Given the description of an element on the screen output the (x, y) to click on. 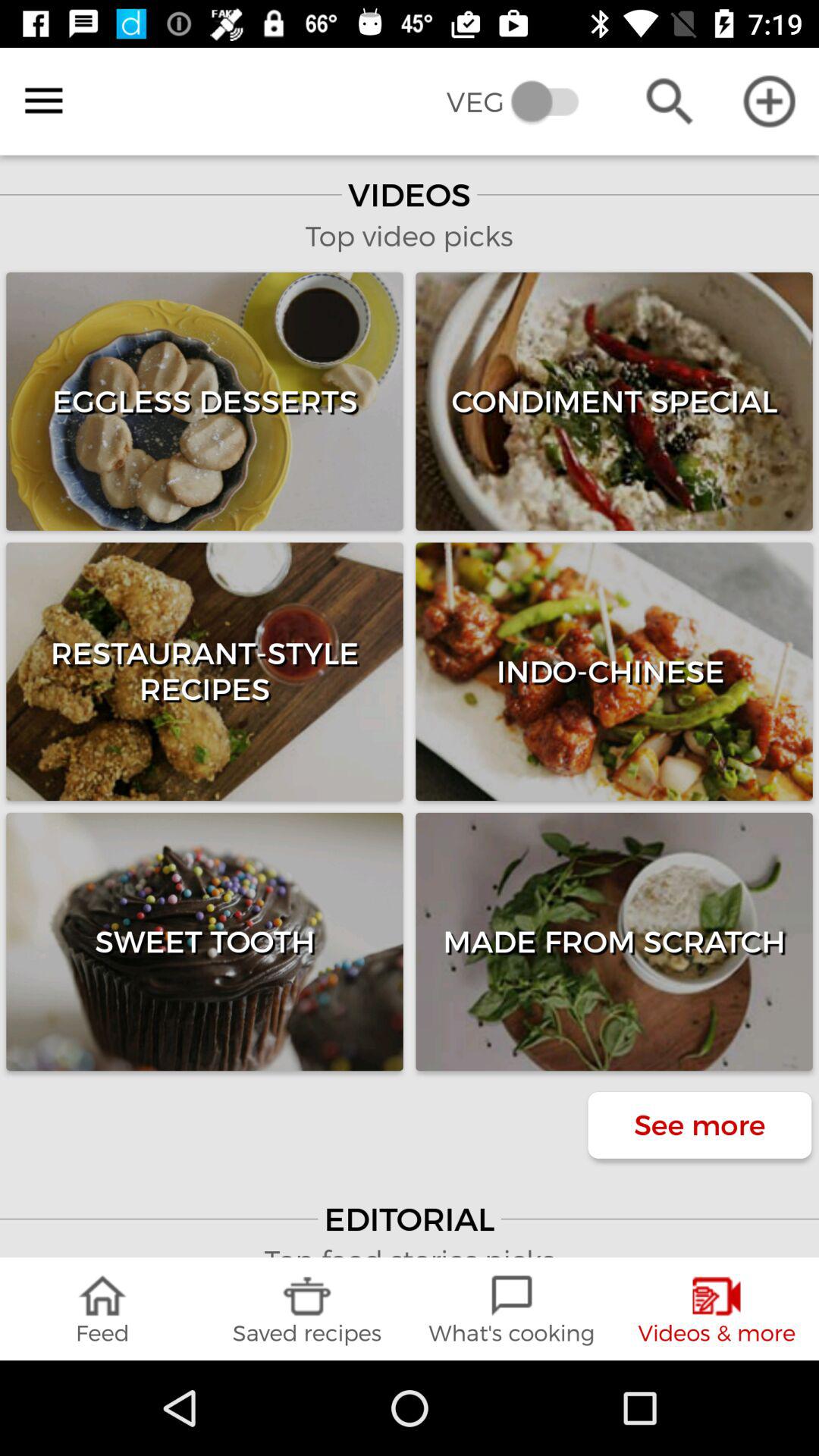
turn on the item to the right of the what's cooking icon (716, 1308)
